Given the description of an element on the screen output the (x, y) to click on. 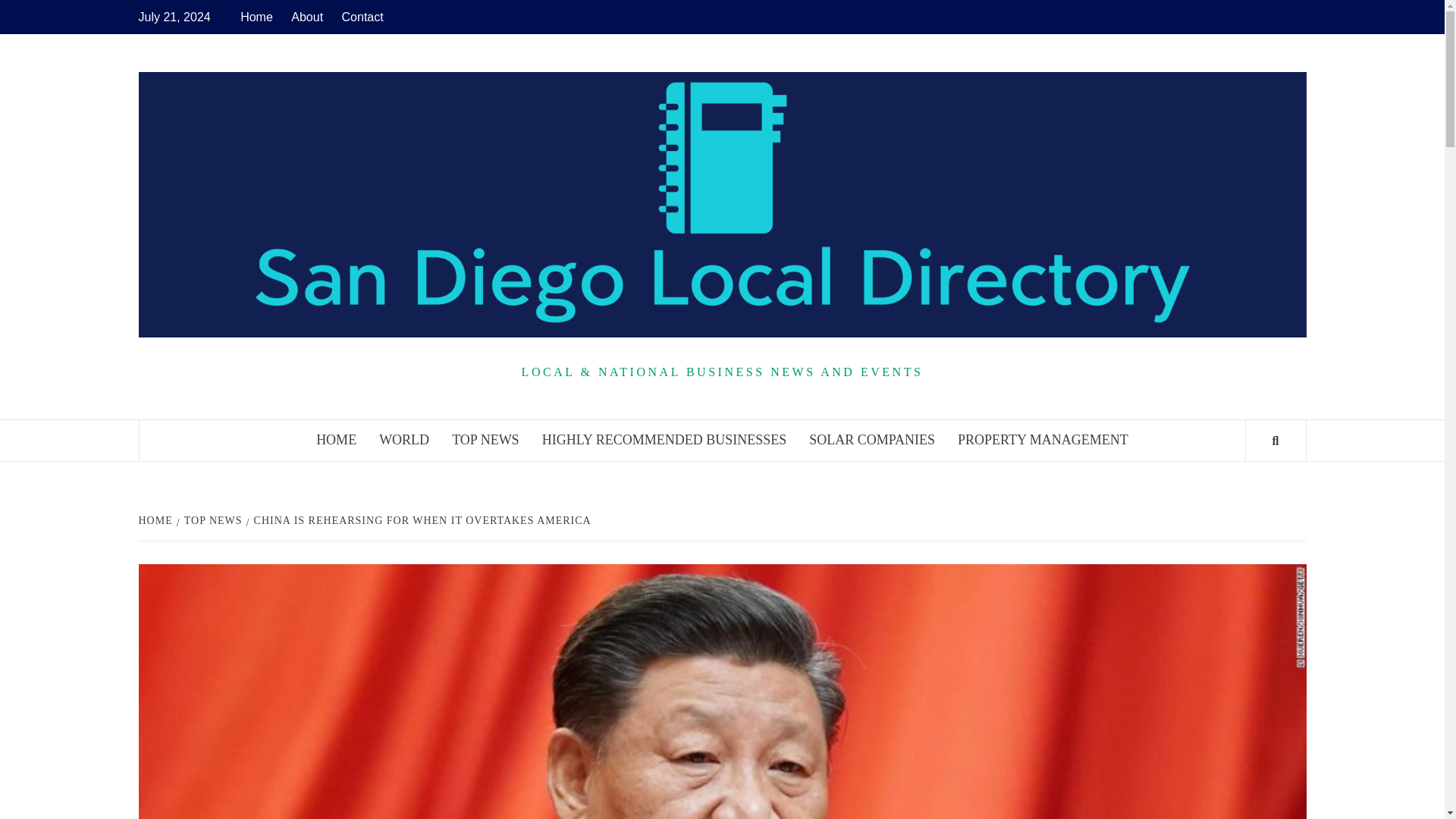
TOP NEWS (486, 440)
CHINA IS REHEARSING FOR WHEN IT OVERTAKES AMERICA (420, 520)
WORLD (404, 440)
SOLAR COMPANIES (871, 440)
PROPERTY MANAGEMENT (1043, 440)
About (306, 17)
HOME (336, 440)
Home (260, 17)
HOME (157, 520)
Contact (362, 17)
HIGHLY RECOMMENDED BUSINESSES (664, 440)
TOP NEWS (211, 520)
